Given the description of an element on the screen output the (x, y) to click on. 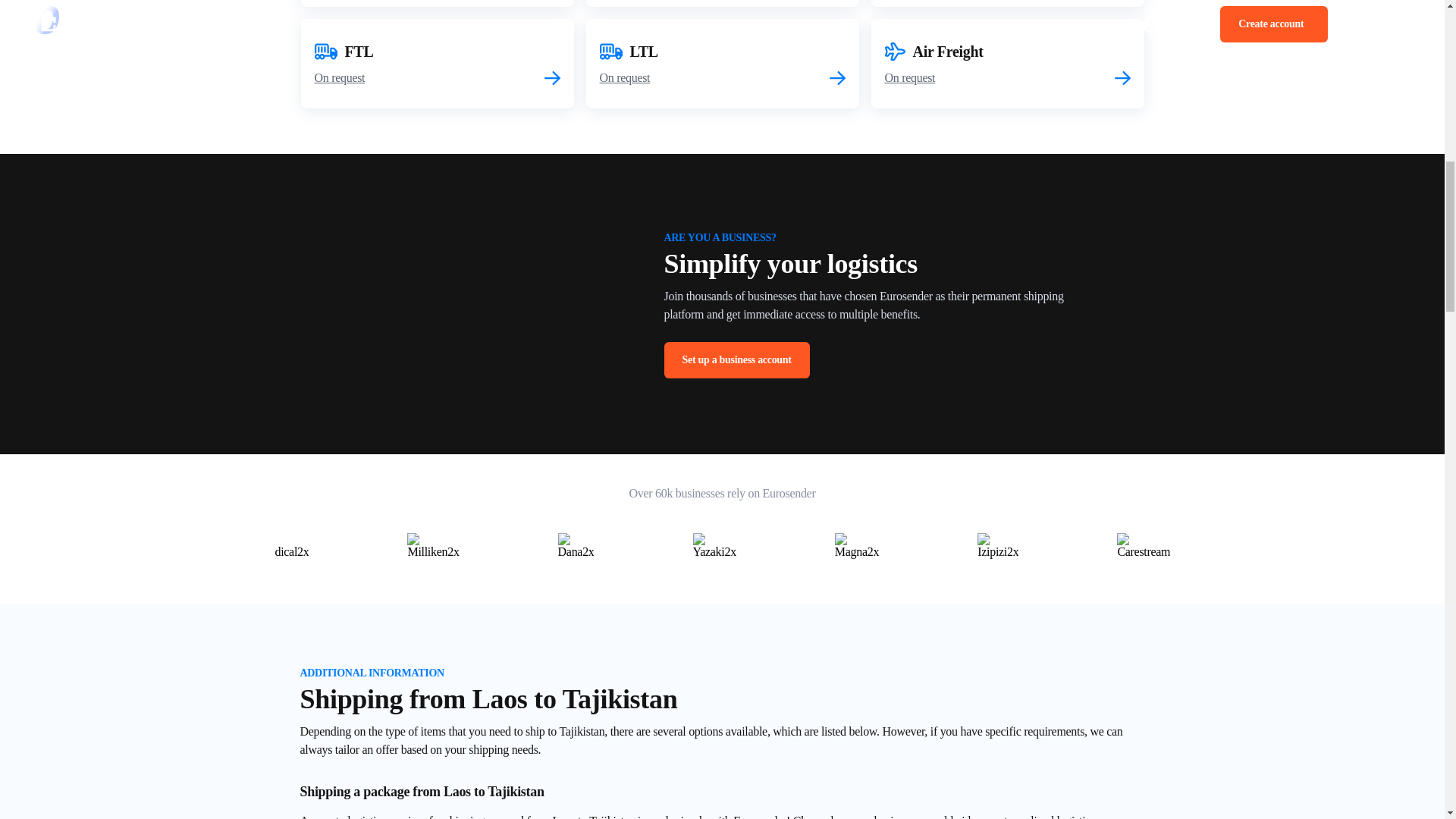
Set up a business account (722, 63)
